Given the description of an element on the screen output the (x, y) to click on. 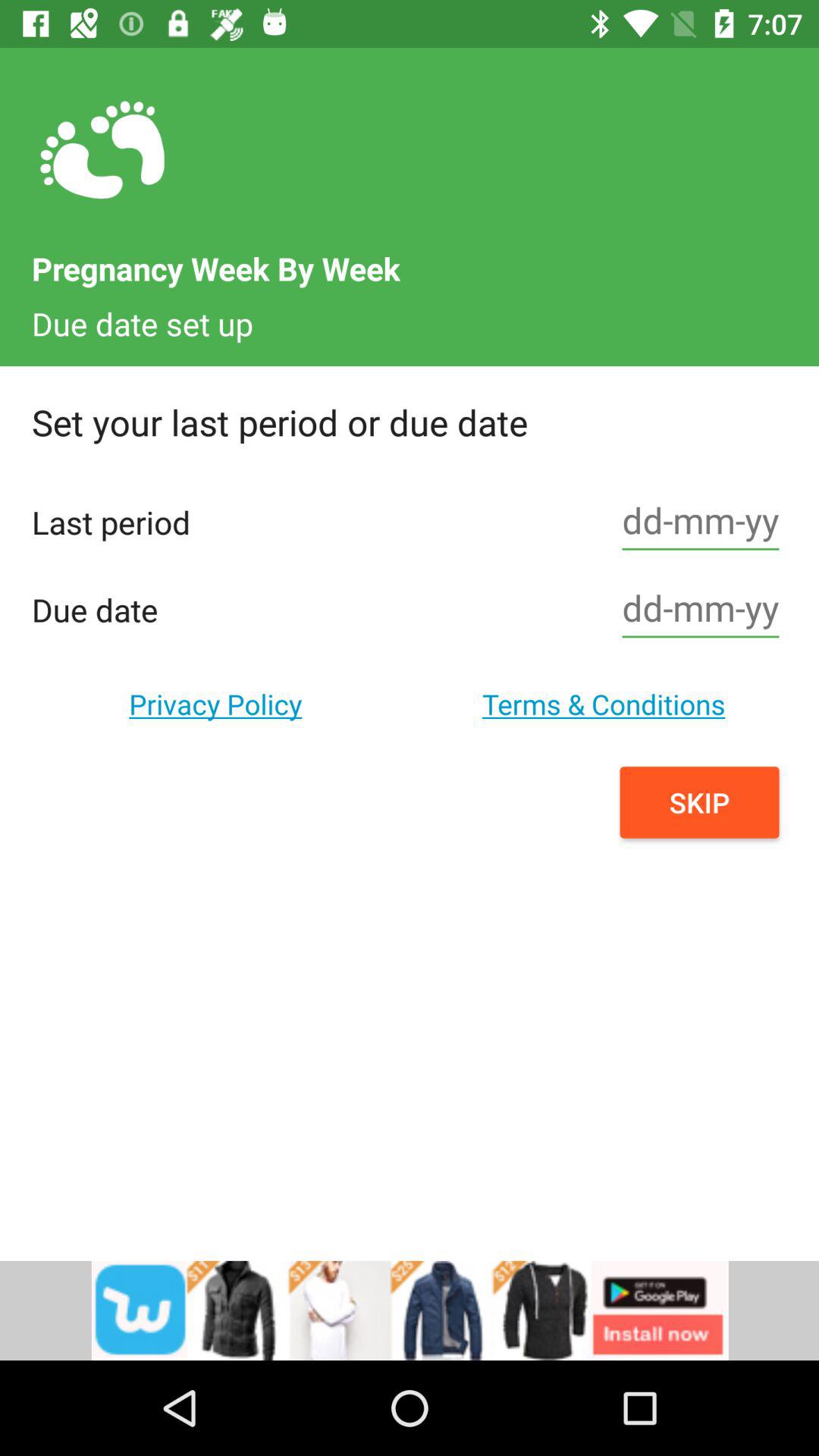
enter dob (700, 609)
